Given the description of an element on the screen output the (x, y) to click on. 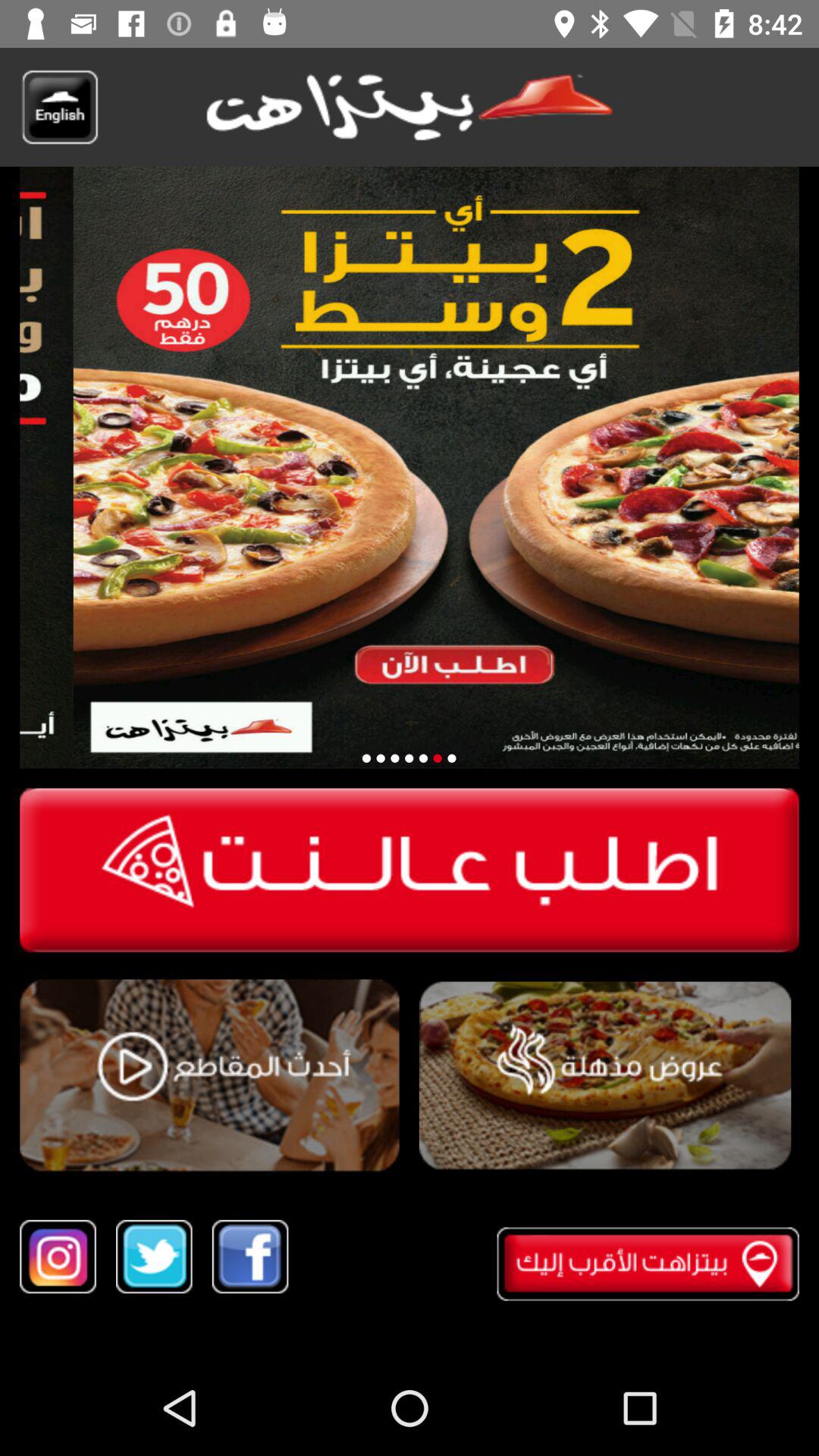
language option (58, 106)
